Given the description of an element on the screen output the (x, y) to click on. 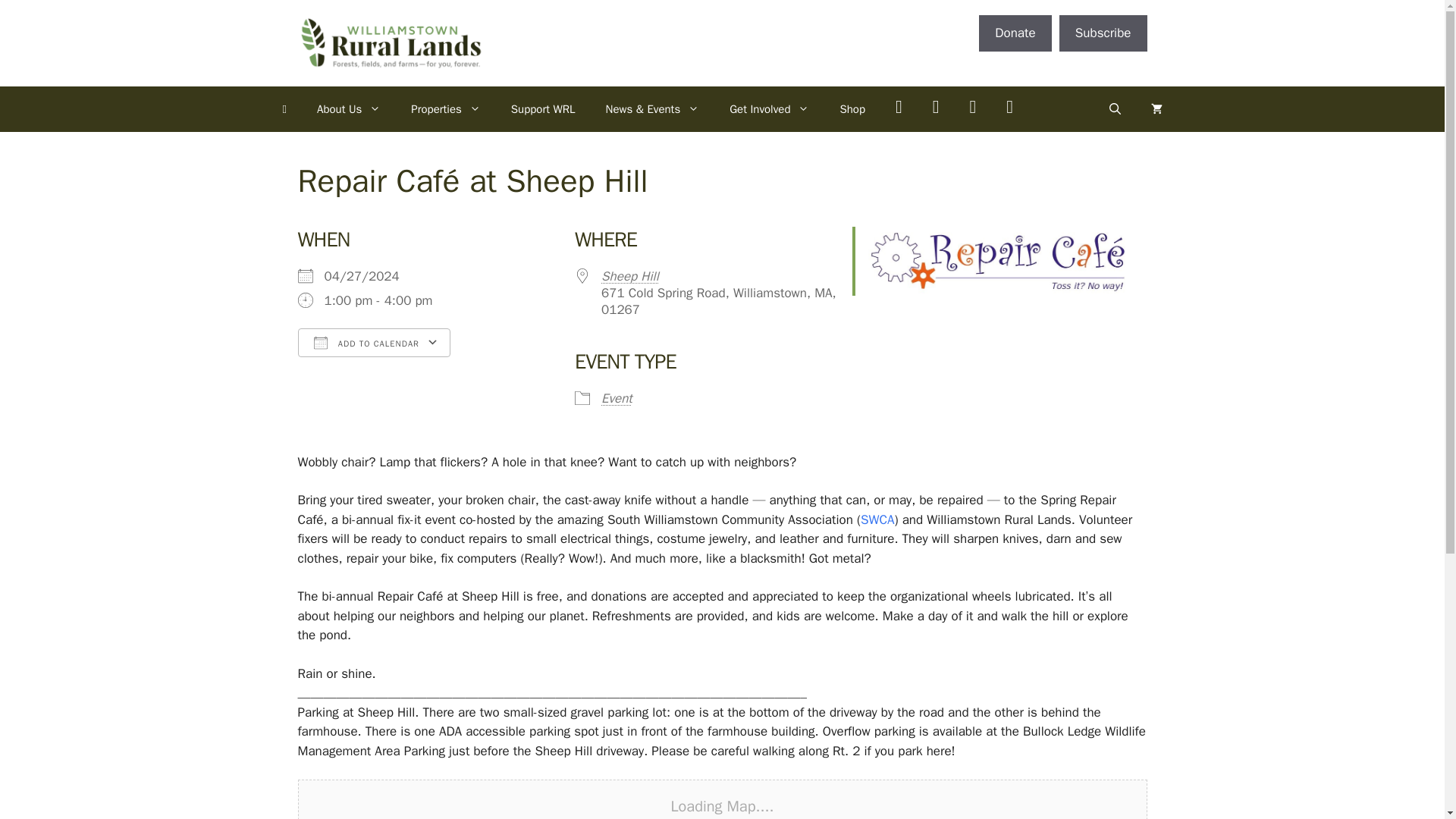
Get Involved (769, 108)
Support WRL (543, 108)
Subscribe (1103, 33)
Shop (852, 108)
Donate (1014, 32)
About Us (348, 108)
Subscribe (1103, 32)
Donate (1014, 33)
View your shopping cart (1156, 108)
Properties (446, 108)
Download ICS (370, 371)
ADD TO CALENDAR (373, 342)
